Given the description of an element on the screen output the (x, y) to click on. 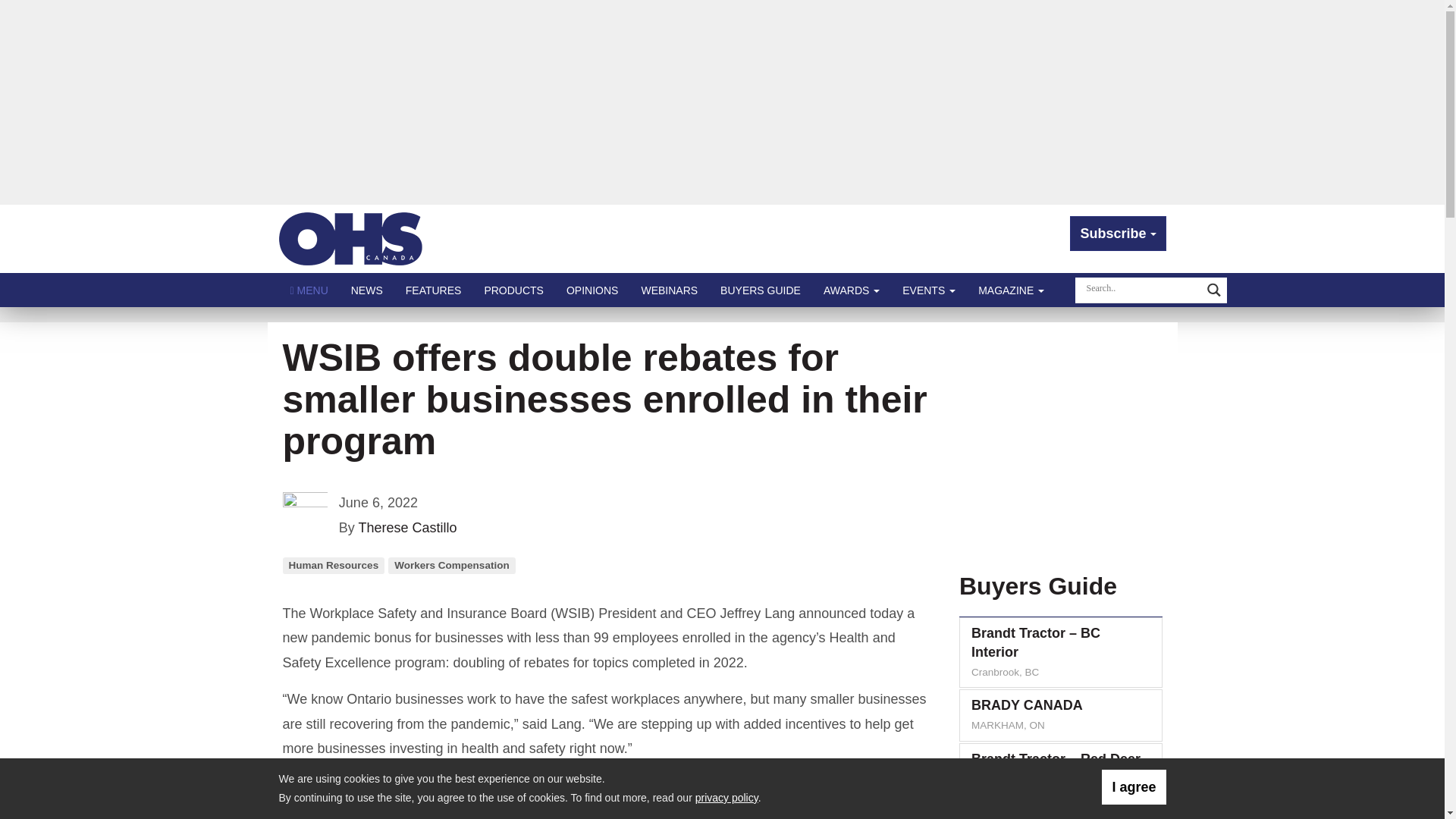
PRODUCTS (512, 289)
WEBINARS (668, 289)
FEATURES (433, 289)
EVENTS (928, 289)
MENU (309, 289)
BUYERS GUIDE (760, 289)
MAGAZINE (1010, 289)
Click to show site navigation (309, 289)
3rd party ad content (1057, 442)
OPINIONS (591, 289)
NEWS (366, 289)
Subscribe (1118, 233)
OHS Canada Magazine (351, 237)
AWARDS (851, 289)
